Given the description of an element on the screen output the (x, y) to click on. 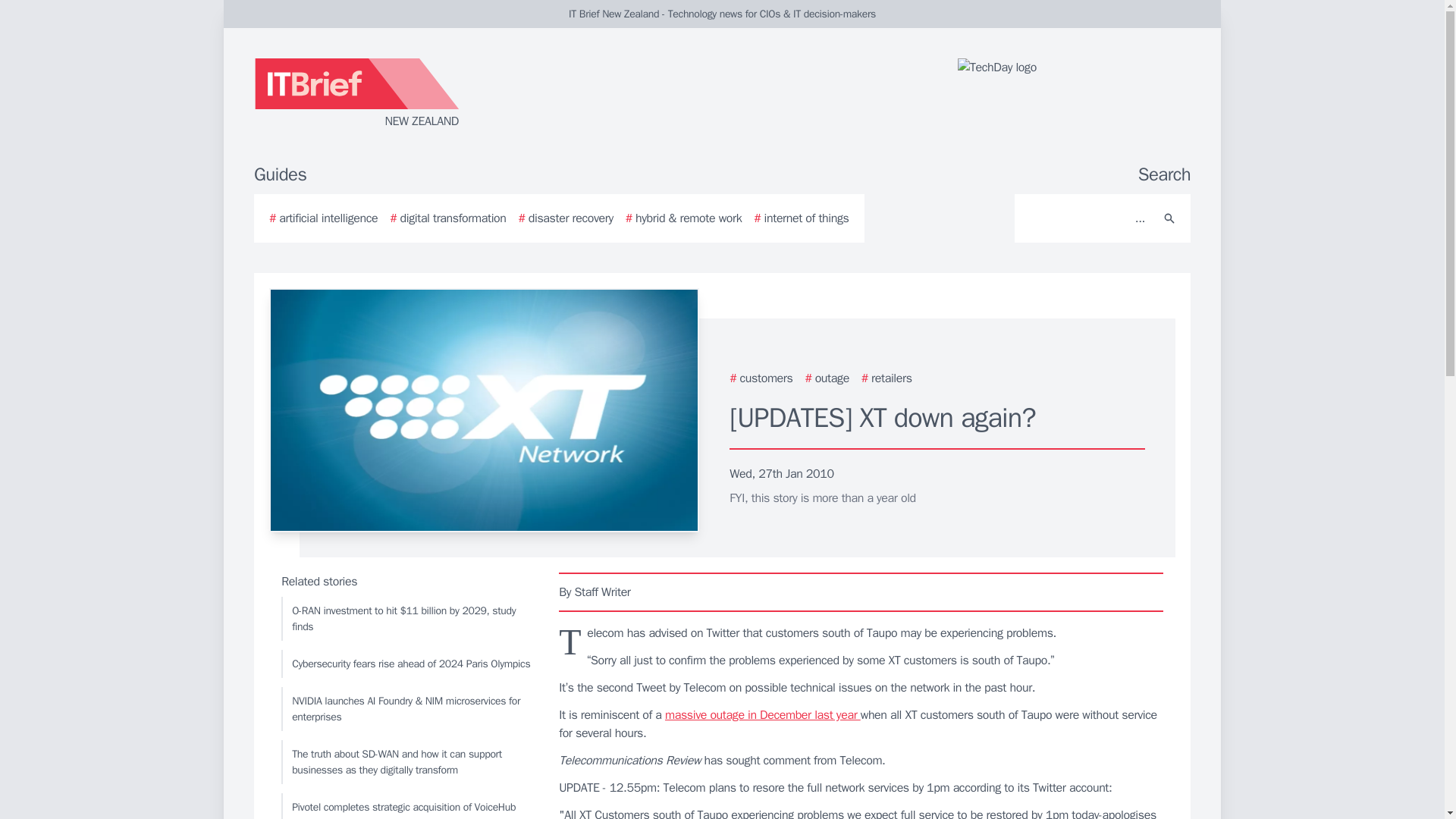
Cybersecurity fears rise ahead of 2024 Paris Olympics (406, 664)
By Staff Writer (861, 592)
NEW ZEALAND (435, 94)
massive outage in December last year (762, 714)
